Given the description of an element on the screen output the (x, y) to click on. 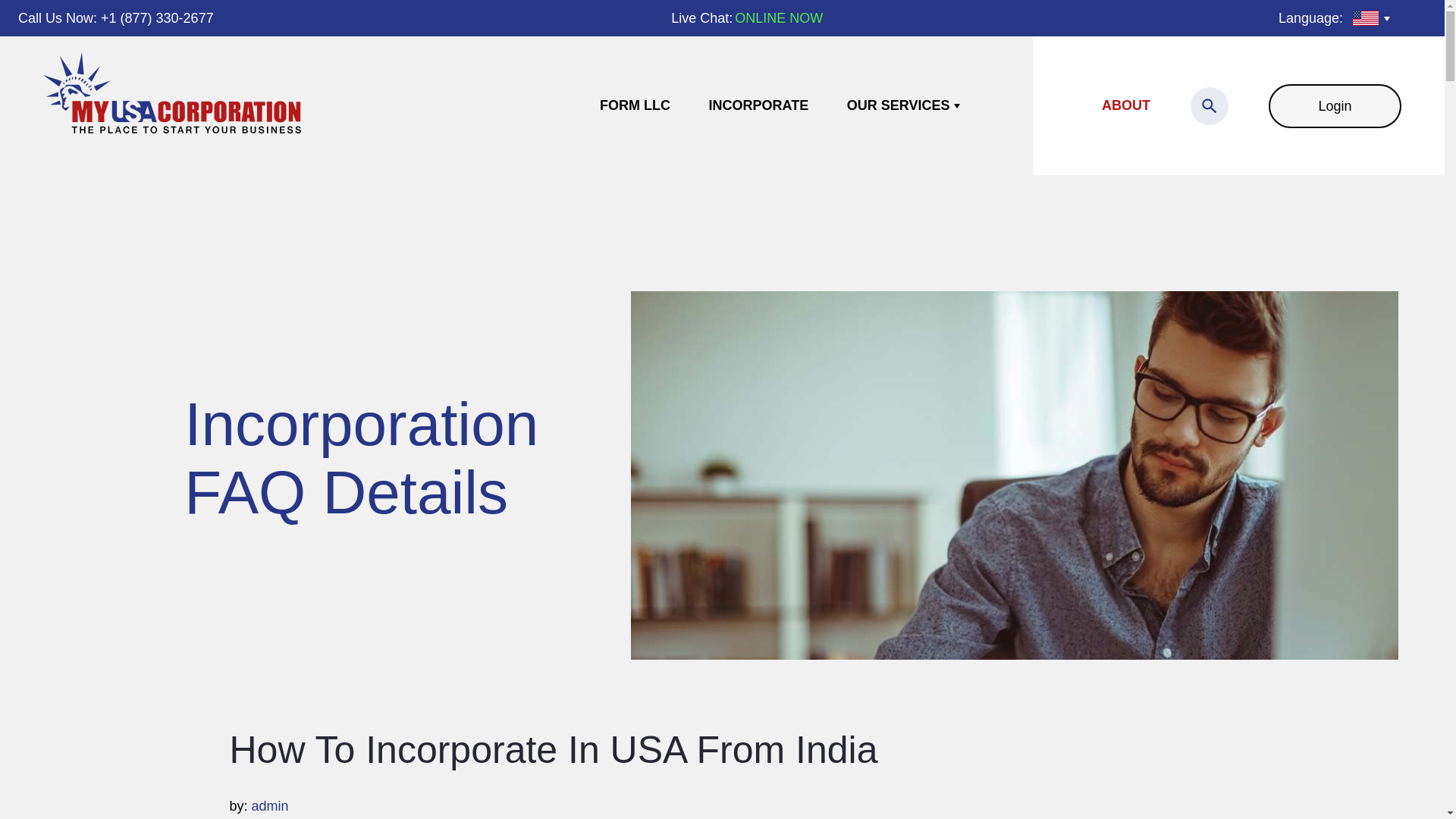
INCORPORATE (759, 105)
Login (1334, 105)
FORM LLC (634, 105)
Call Us Now (55, 17)
ONLINE NOW (778, 18)
ABOUT (1126, 105)
